Given the description of an element on the screen output the (x, y) to click on. 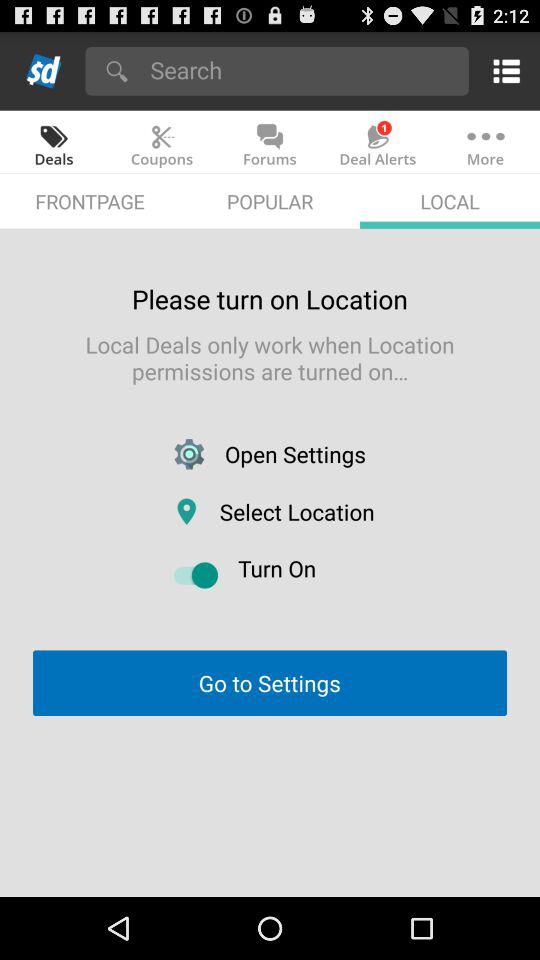
flip to the popular icon (270, 200)
